Given the description of an element on the screen output the (x, y) to click on. 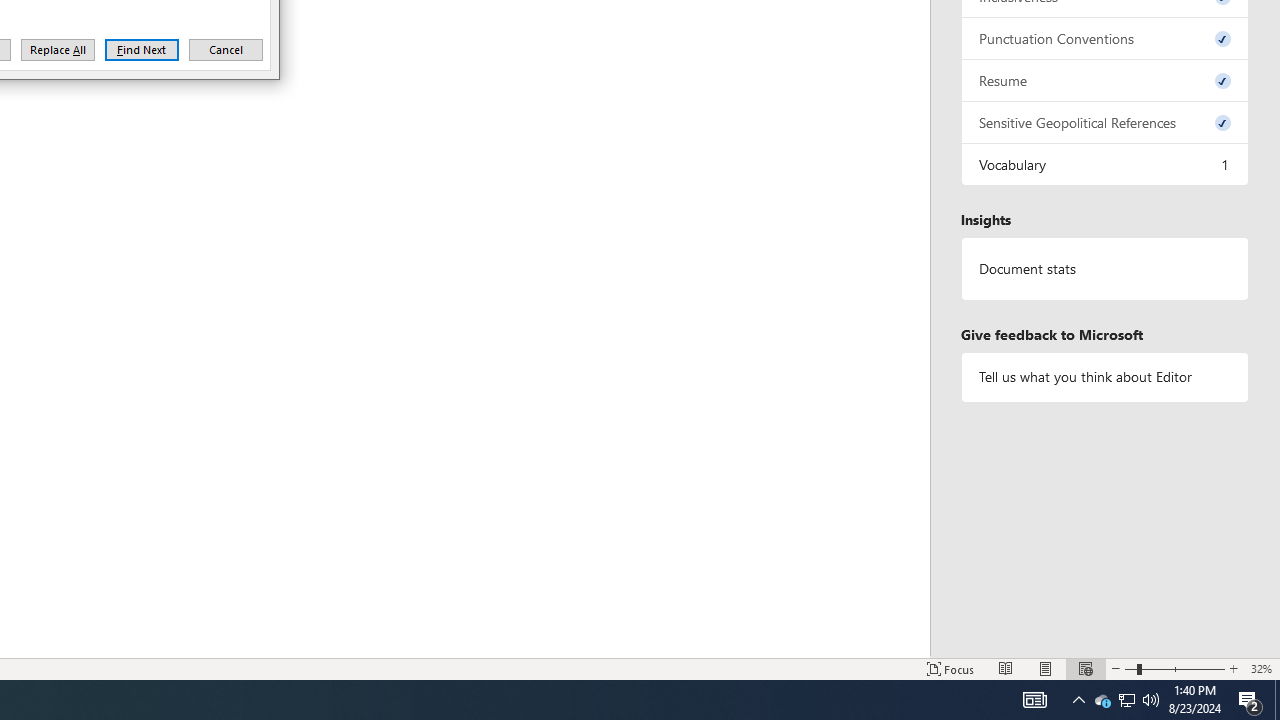
Notification Chevron (1078, 699)
Resume, 0 issues. Press space or enter to review items. (1105, 79)
Cancel (225, 49)
Zoom 32% (1261, 668)
Replace All (58, 49)
Tell us what you think about Editor (1105, 376)
User Promoted Notification Area (1102, 699)
Find Next (1126, 699)
Show desktop (141, 49)
